Given the description of an element on the screen output the (x, y) to click on. 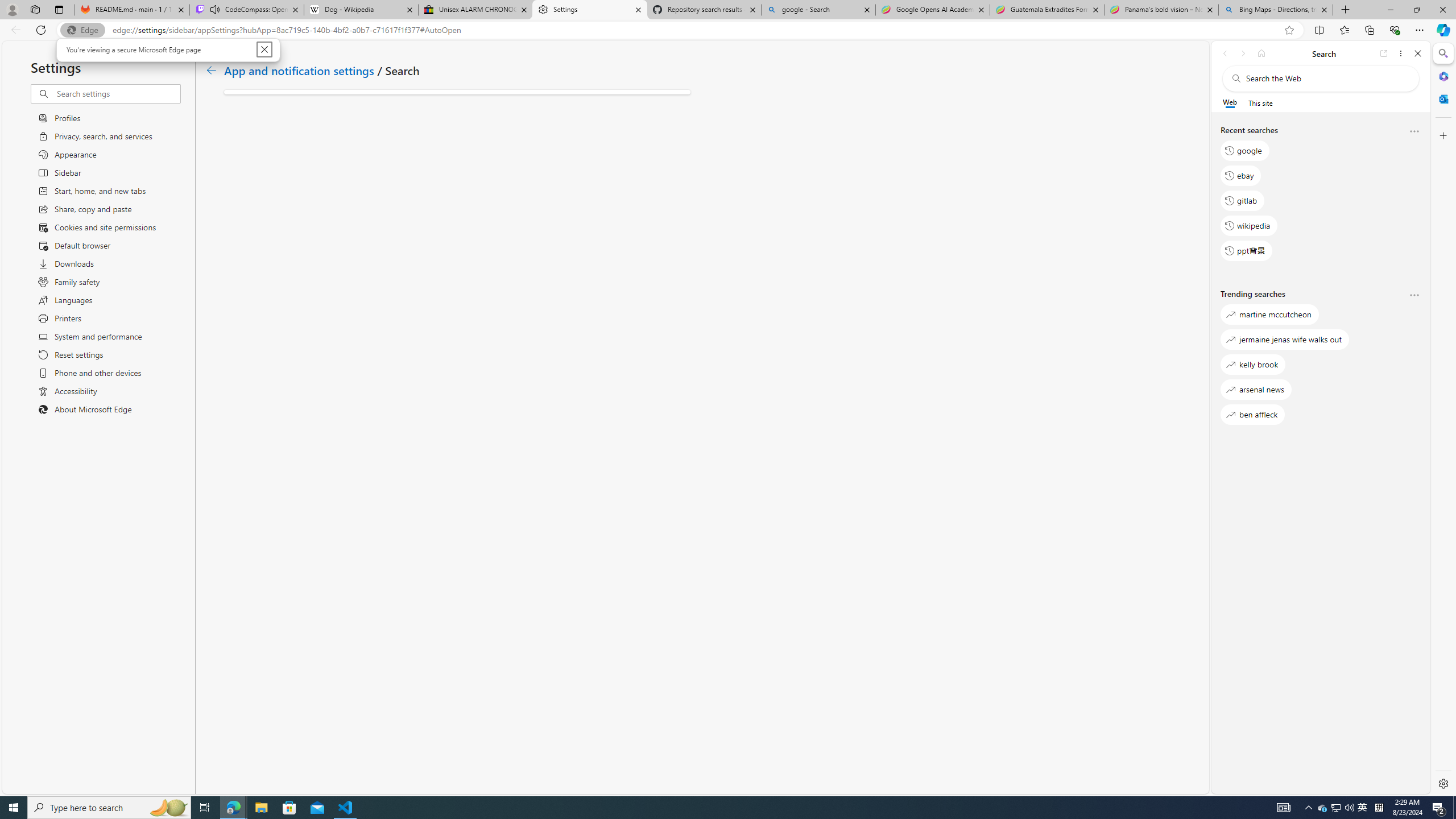
wikipedia (1249, 225)
Dog - Wikipedia (1322, 807)
gitlab (360, 9)
arsenal news (1242, 200)
ben affleck (1255, 389)
